Given the description of an element on the screen output the (x, y) to click on. 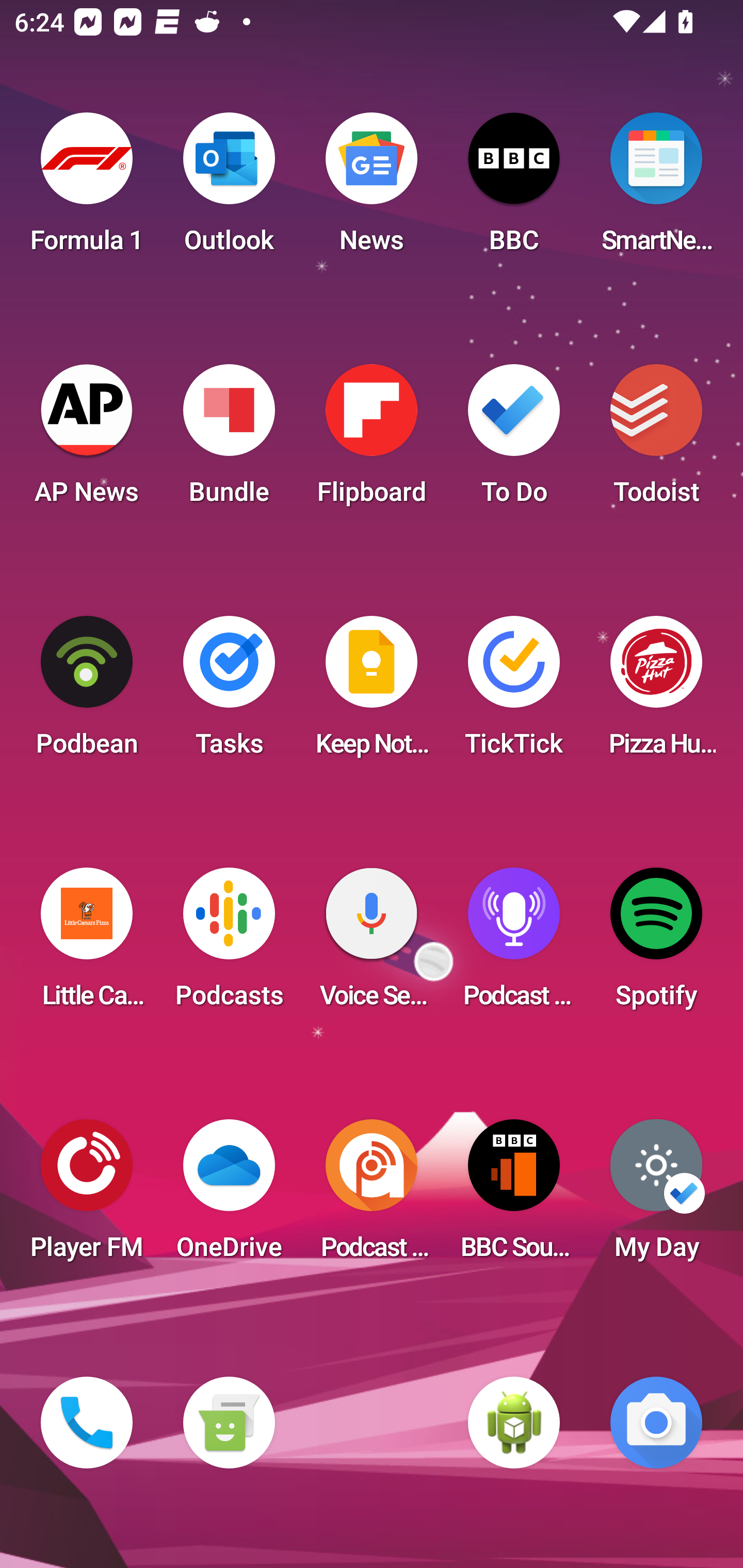
Formula 1 (86, 188)
Outlook (228, 188)
News (371, 188)
BBC (513, 188)
SmartNews (656, 188)
AP News (86, 440)
Bundle (228, 440)
Flipboard (371, 440)
To Do (513, 440)
Todoist (656, 440)
Podbean (86, 692)
Tasks (228, 692)
Keep Notes (371, 692)
TickTick (513, 692)
Pizza Hut HK & Macau (656, 692)
Little Caesars Pizza (86, 943)
Podcasts (228, 943)
Voice Search (371, 943)
Podcast Player (513, 943)
Spotify (656, 943)
Player FM (86, 1195)
OneDrive (228, 1195)
Podcast Addict (371, 1195)
BBC Sounds (513, 1195)
My Day (656, 1195)
Phone (86, 1422)
Messaging (228, 1422)
WebView Browser Tester (513, 1422)
Camera (656, 1422)
